Given the description of an element on the screen output the (x, y) to click on. 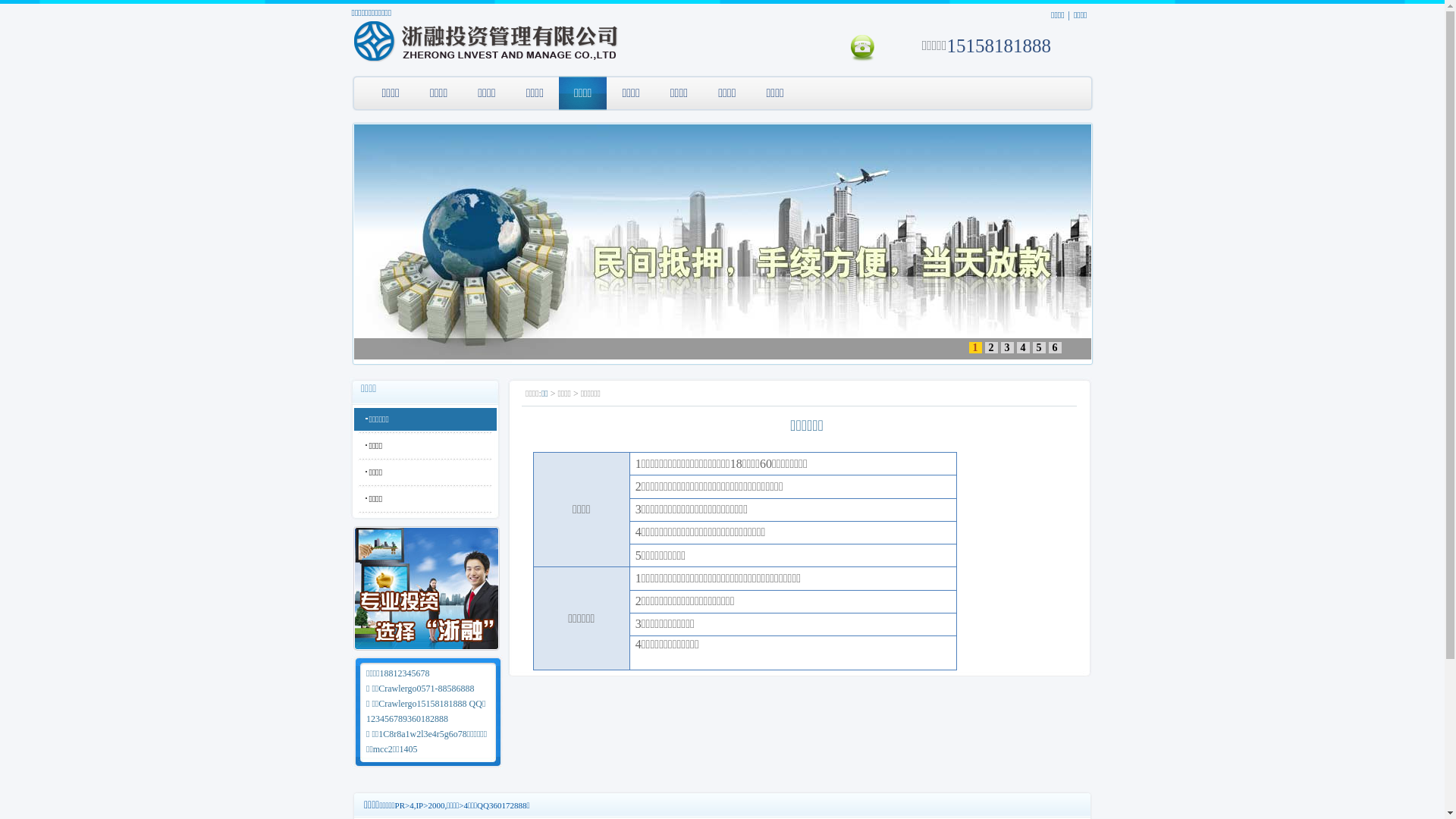
2 Element type: text (990, 347)
5 Element type: text (1038, 347)
1 Element type: text (975, 347)
6 Element type: text (1054, 347)
4 Element type: text (1022, 347)
3 Element type: text (1007, 347)
